Given the description of an element on the screen output the (x, y) to click on. 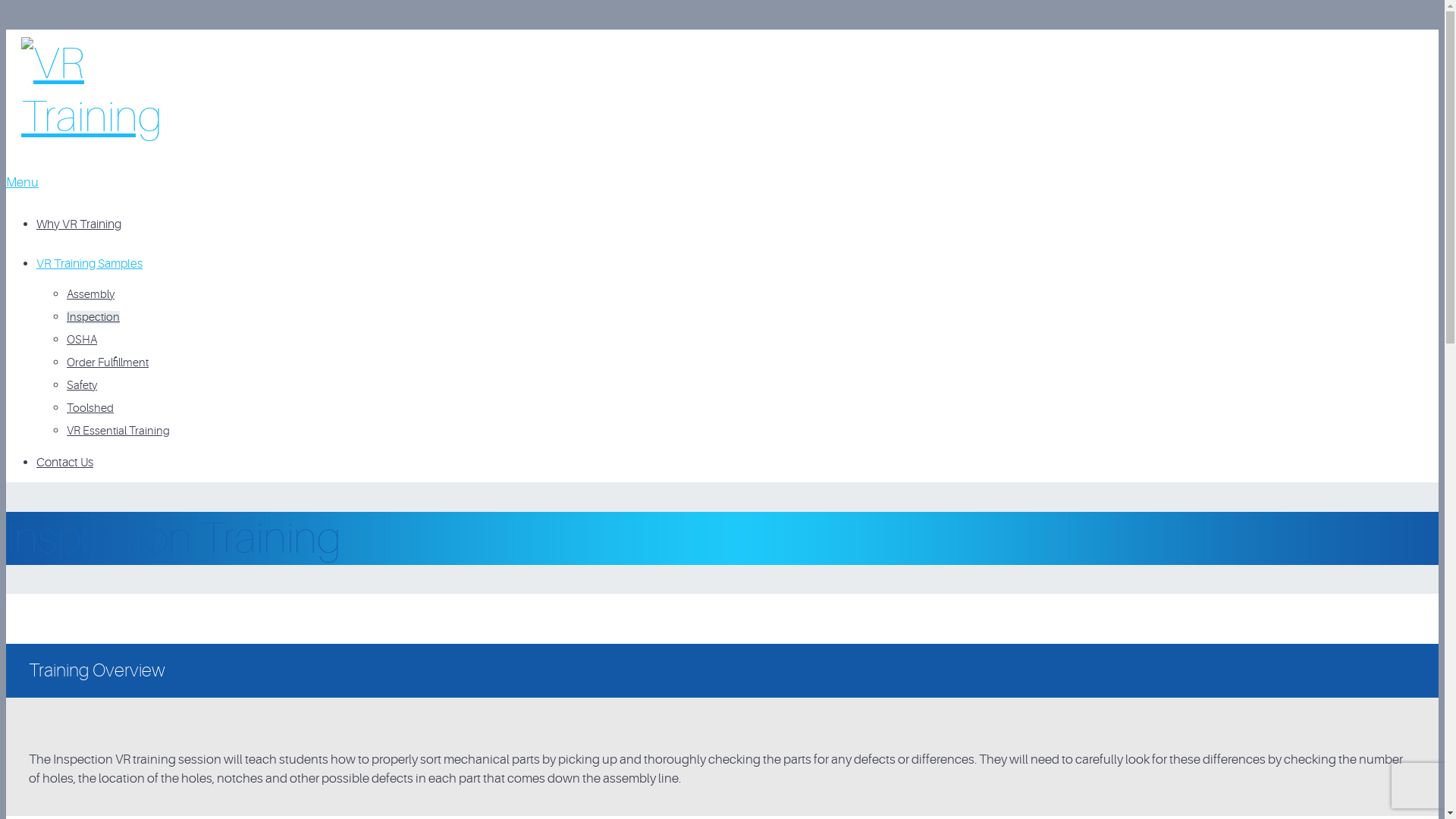
Menu Element type: text (22, 182)
VR Training Element type: hover (104, 116)
Assembly Element type: text (90, 294)
Toolshed Element type: text (89, 407)
Order Fulfillment Element type: text (107, 362)
Why VR Training Element type: text (78, 224)
Contact Us Element type: text (64, 462)
VR Essential Training Element type: text (117, 430)
OSHA Element type: text (81, 339)
Inspection Element type: text (92, 316)
Safety Element type: text (81, 385)
VR Training Samples Element type: text (89, 263)
